Given the description of an element on the screen output the (x, y) to click on. 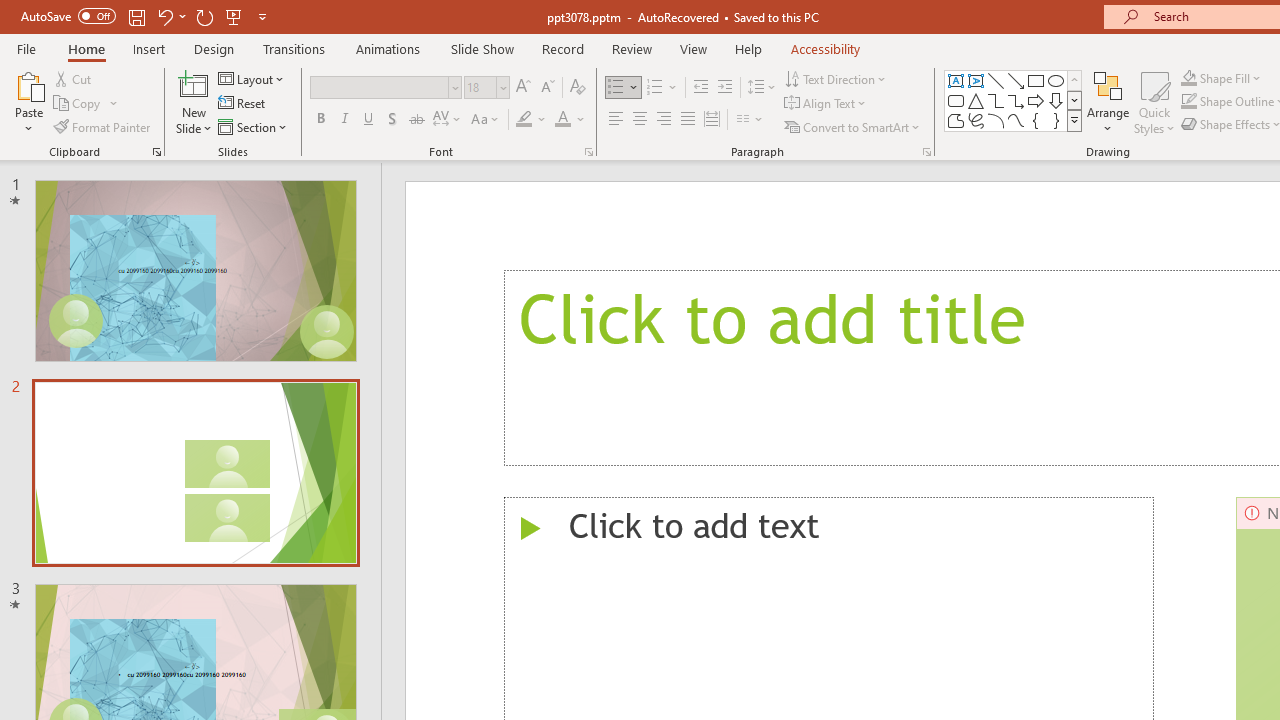
Convert to SmartArt (853, 126)
Font Color (569, 119)
Strikethrough (416, 119)
Italic (344, 119)
Line Arrow (1016, 80)
